Given the description of an element on the screen output the (x, y) to click on. 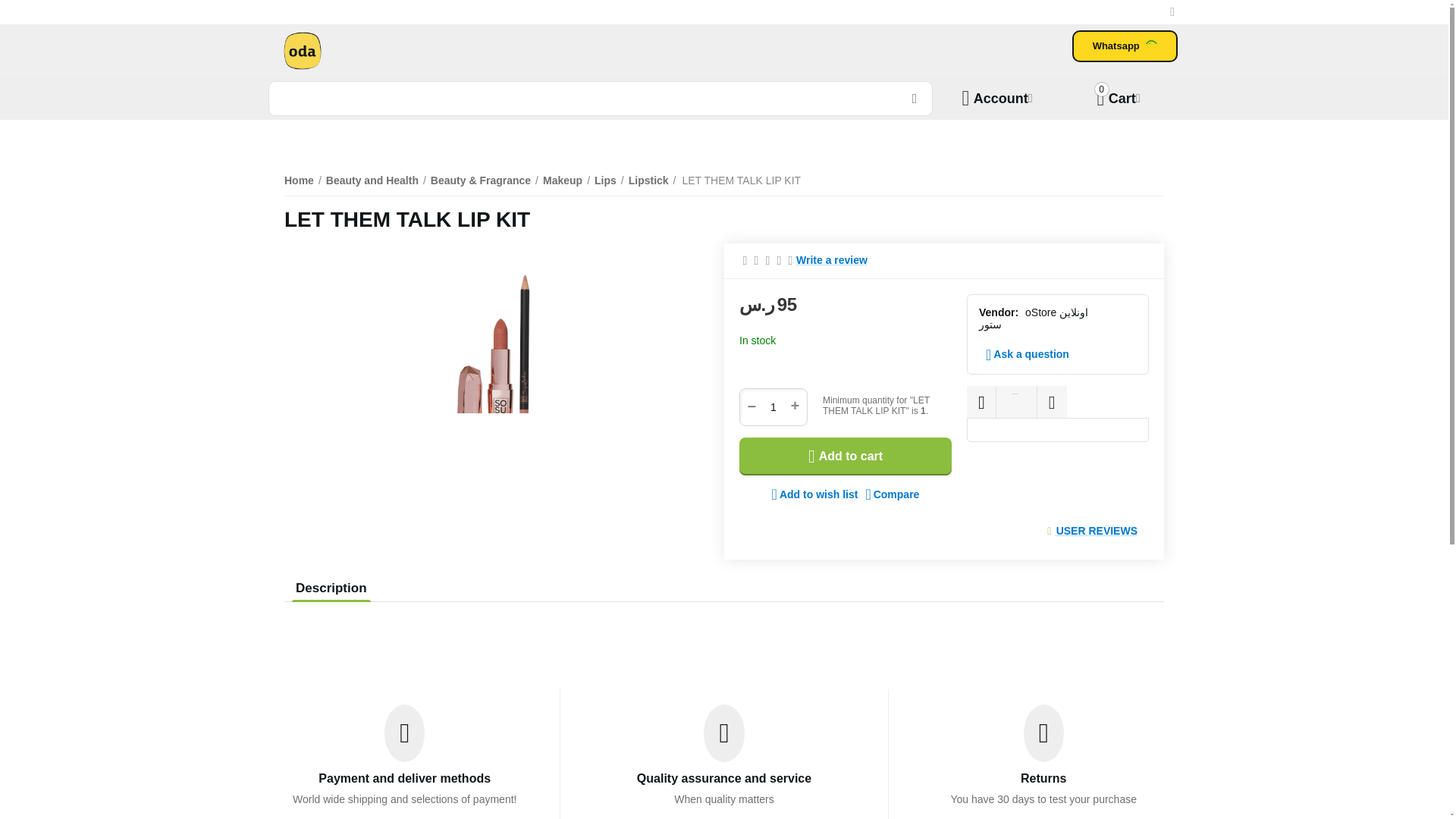
Lips (604, 179)
USER REVIEWS (1097, 530)
Add to cart (845, 456)
Add to wishlist (1118, 97)
Search products (815, 494)
Compare (600, 98)
Write a review (891, 494)
Add to comparison list (831, 260)
Beauty and Health (891, 494)
